Given the description of an element on the screen output the (x, y) to click on. 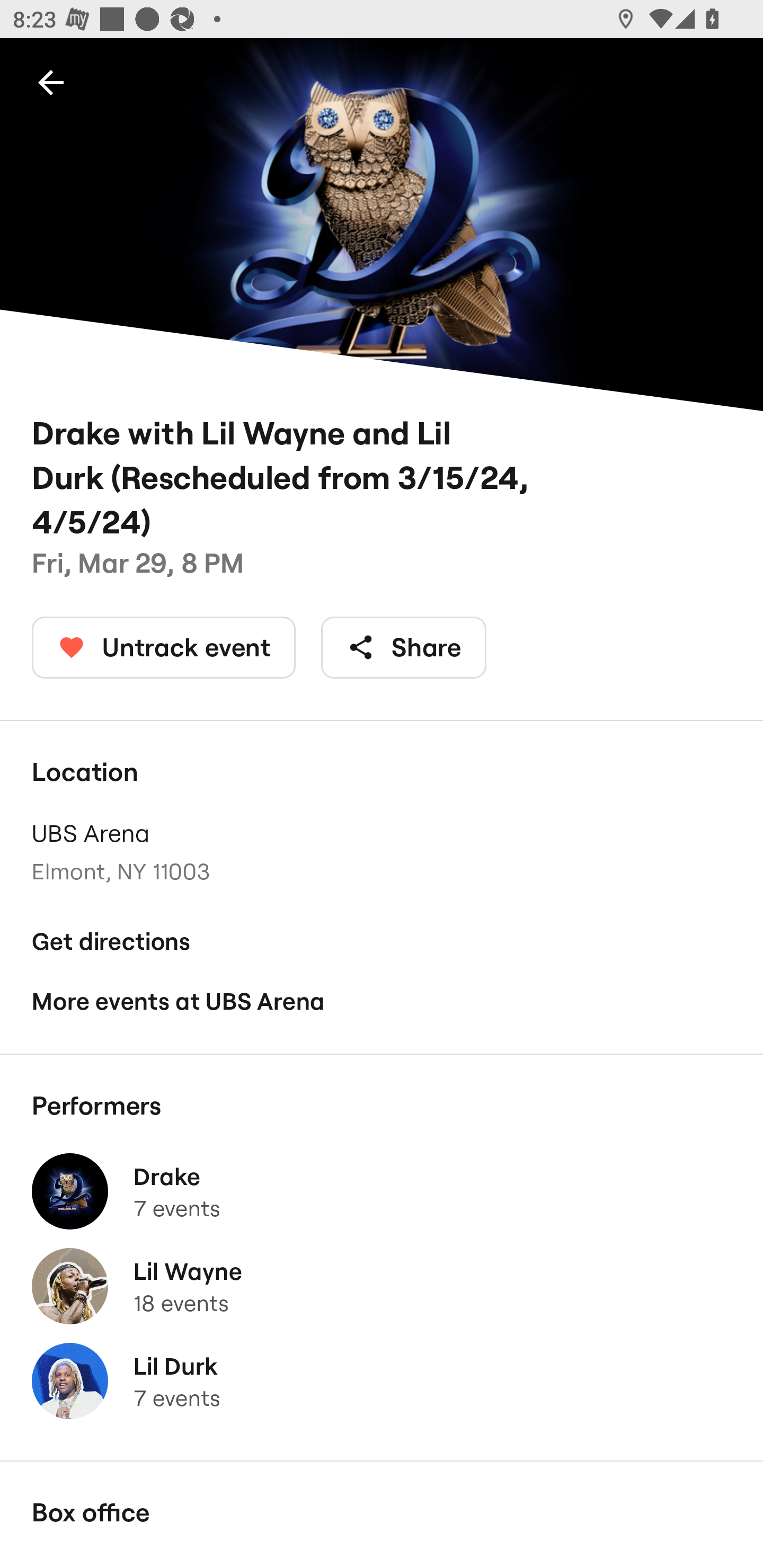
Back (50, 81)
Untrack event (164, 647)
Share (403, 647)
Get directions (381, 941)
More events at UBS Arena (381, 1001)
Drake 7 events (381, 1191)
Lil Wayne 18 events (381, 1286)
Lil Durk 7 events (381, 1381)
